Given the description of an element on the screen output the (x, y) to click on. 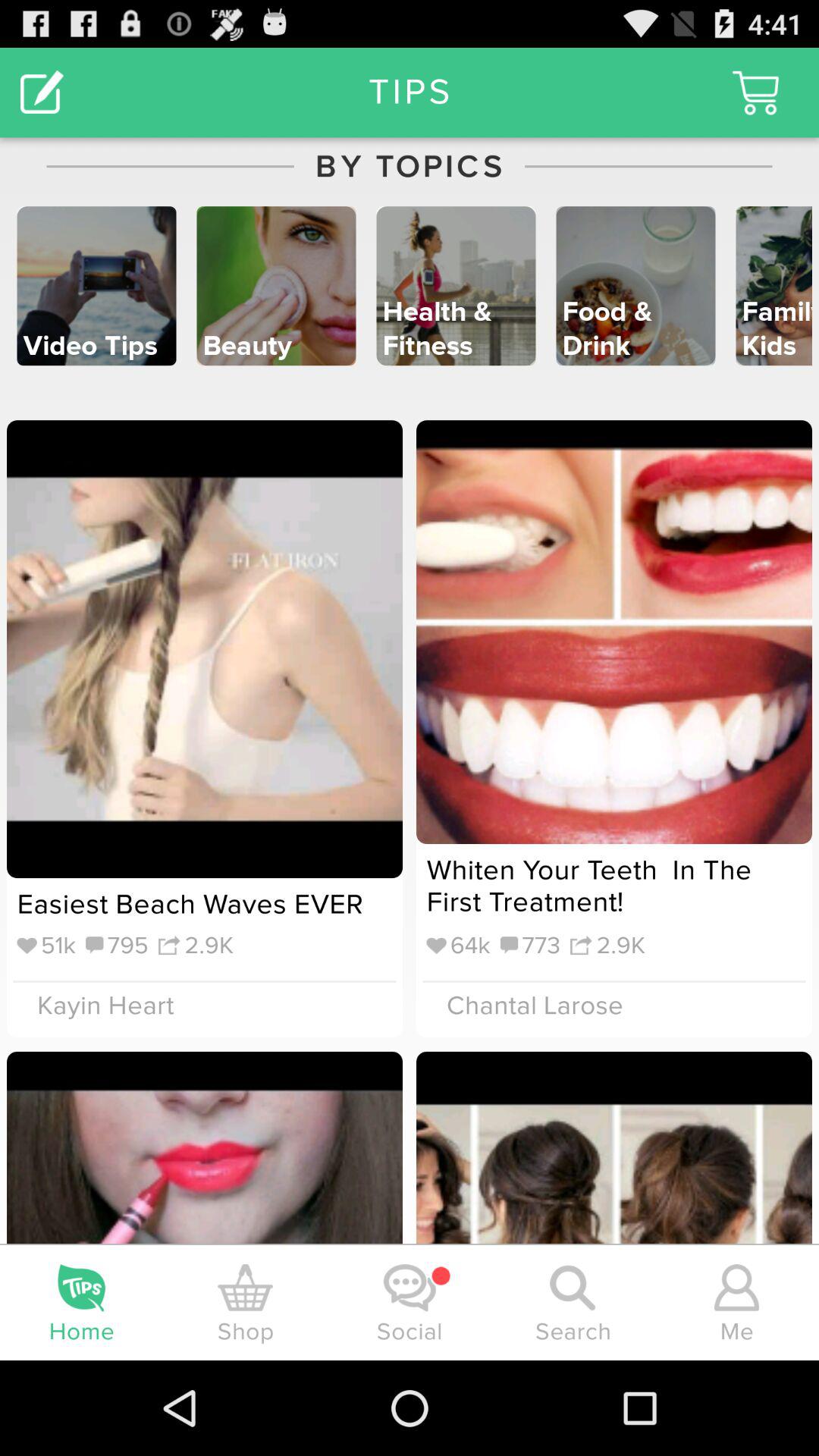
comment (42, 92)
